Given the description of an element on the screen output the (x, y) to click on. 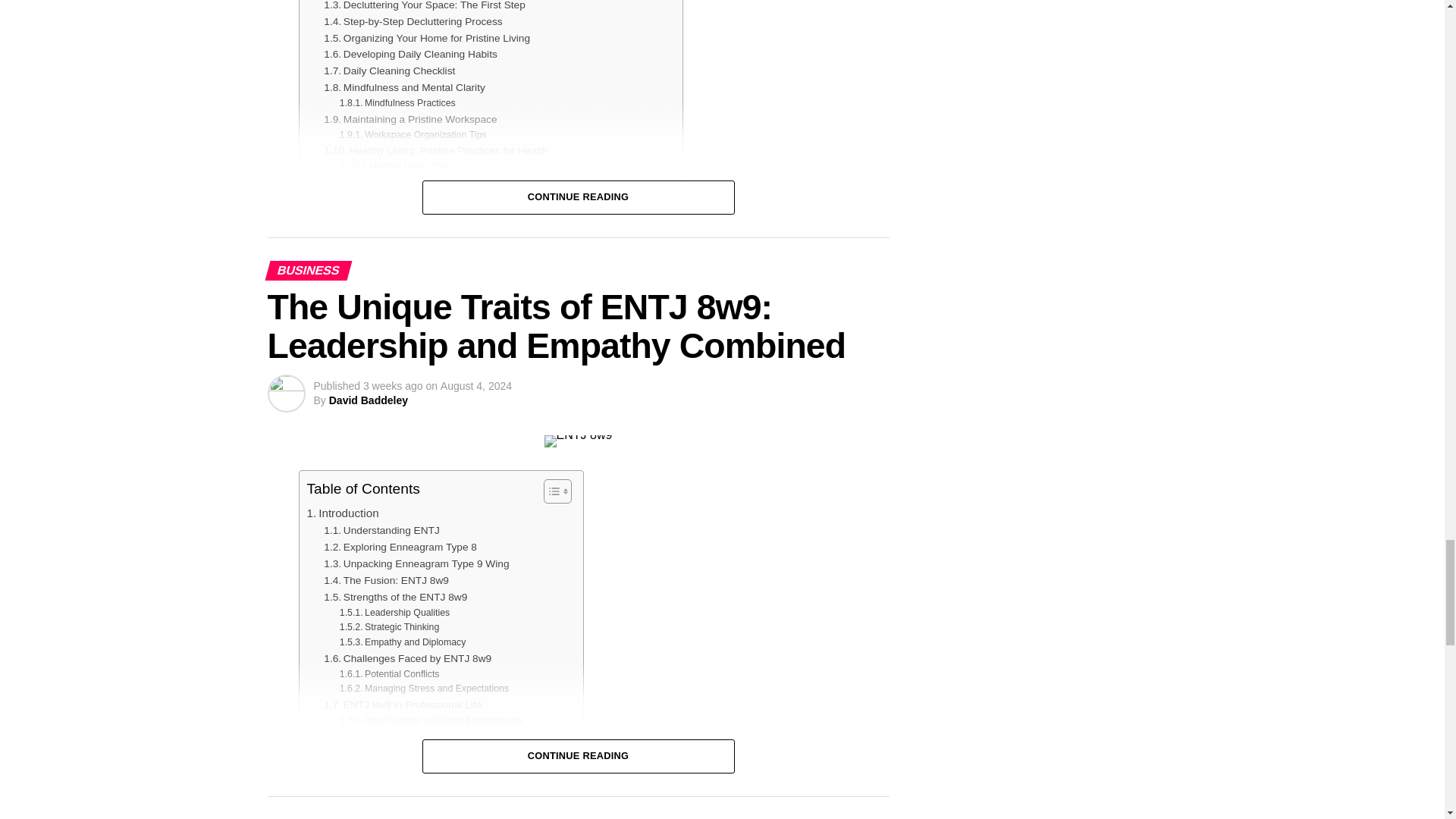
Organizing Your Home for Pristine Living (426, 38)
Decluttering Your Space: The First Step (423, 6)
Step-by-Step Decluttering Process (412, 21)
